Given the description of an element on the screen output the (x, y) to click on. 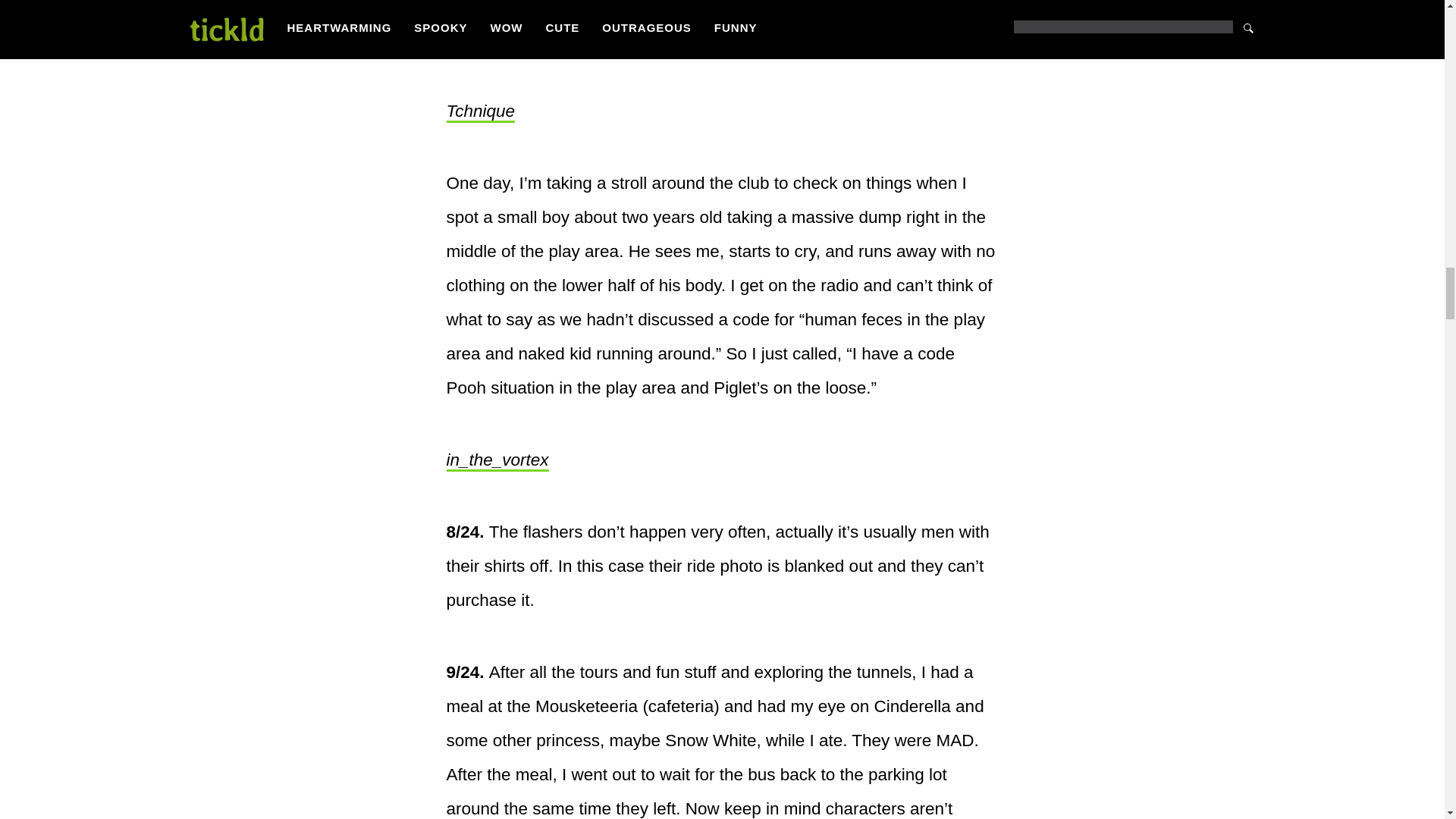
Tchnique (480, 111)
